Given the description of an element on the screen output the (x, y) to click on. 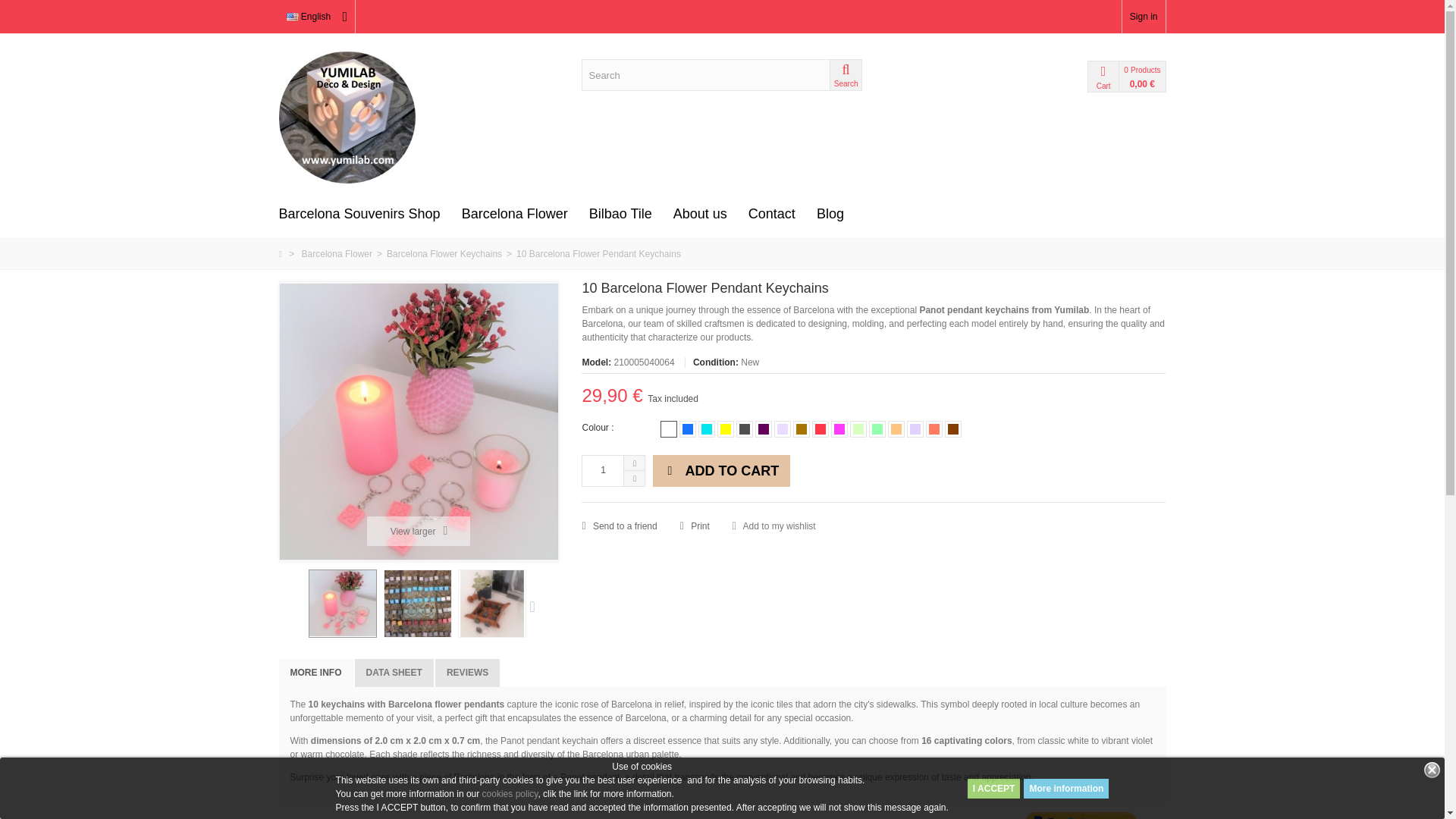
Blog (830, 213)
Sign in (1144, 16)
Bilbao Tile (620, 213)
1 (602, 470)
Log in to your customer account (1144, 16)
I ACCEPT (994, 787)
View my shopping cart (1063, 76)
Contact (772, 213)
Barcelona Souvenirs Shop (359, 213)
Search (846, 74)
Barcelona Souvenirs Shop (359, 213)
YUMILAB (419, 117)
Barcelona Flower (514, 213)
About us (700, 213)
